Given the description of an element on the screen output the (x, y) to click on. 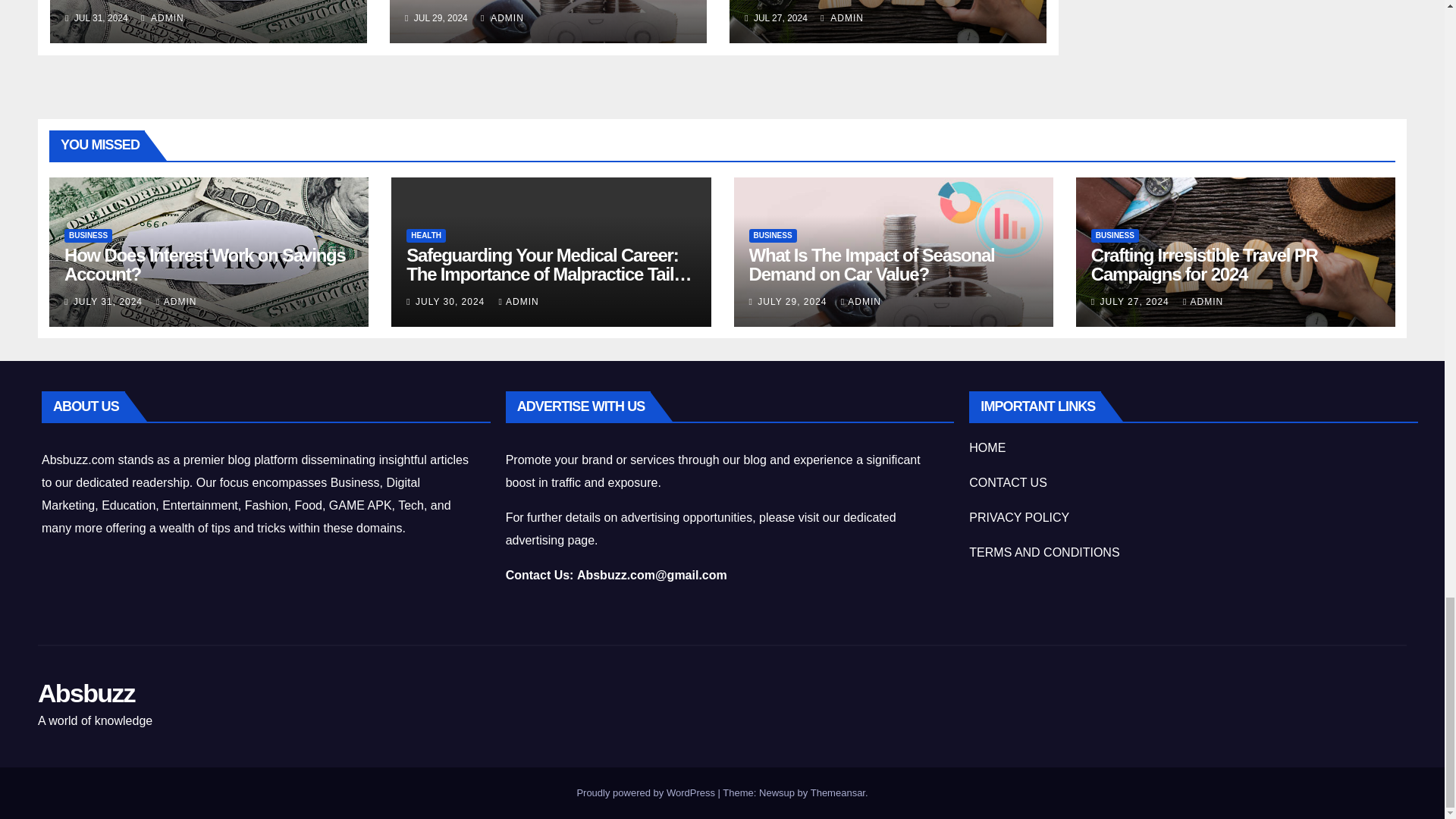
ADMIN (162, 18)
Permalink to: How Does Interest Work on Savings Account? (205, 264)
